Given the description of an element on the screen output the (x, y) to click on. 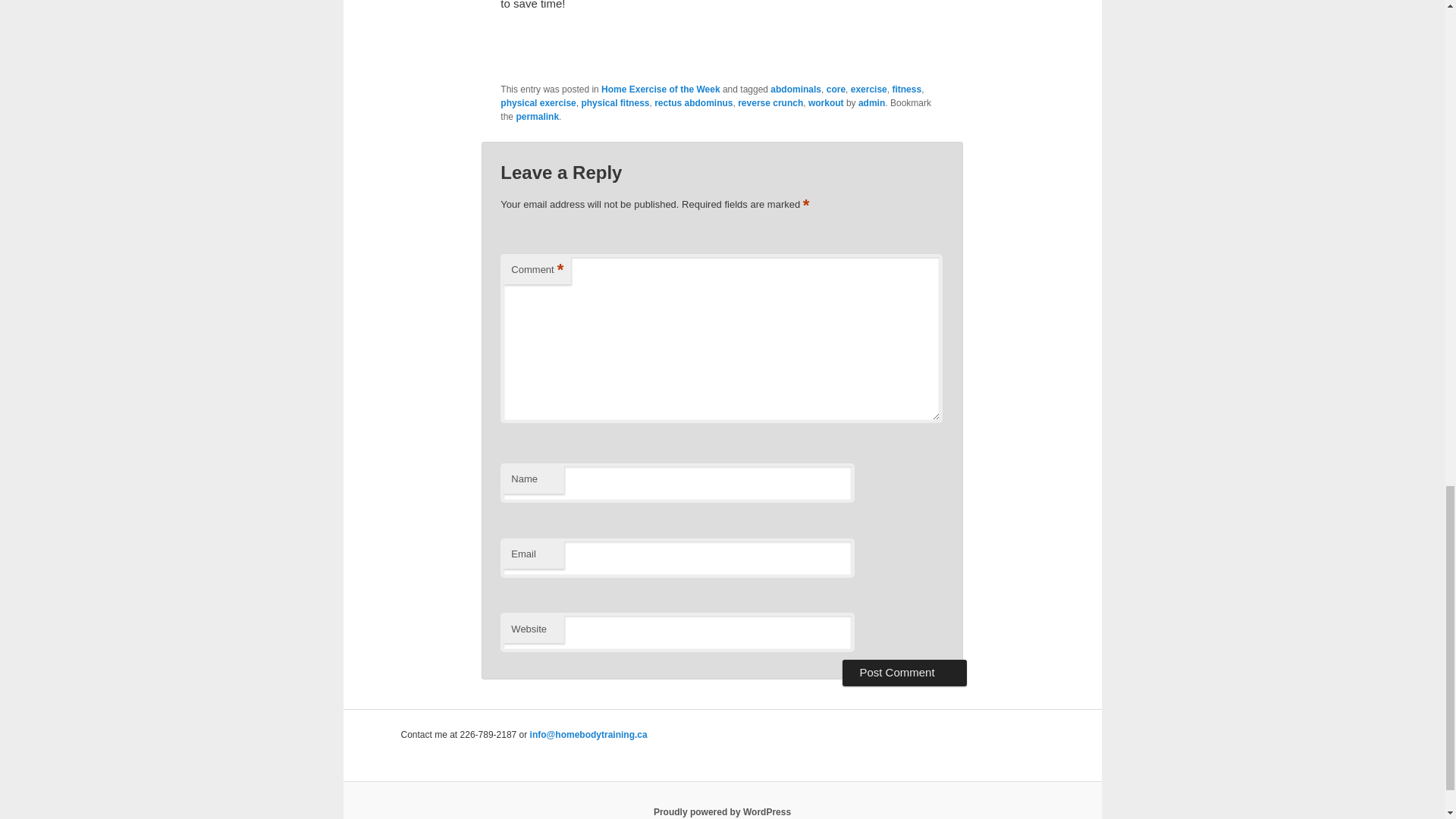
Semantic Personal Publishing Platform (721, 811)
abdominals (795, 89)
Post Comment (904, 672)
Permalink to Reverse Crunch (537, 116)
physical fitness (614, 102)
workout (826, 102)
core (836, 89)
fitness (906, 89)
exercise (868, 89)
admin (872, 102)
reverse crunch (770, 102)
rectus abdominus (692, 102)
Post Comment (904, 672)
Proudly powered by WordPress (721, 811)
permalink (537, 116)
